Given the description of an element on the screen output the (x, y) to click on. 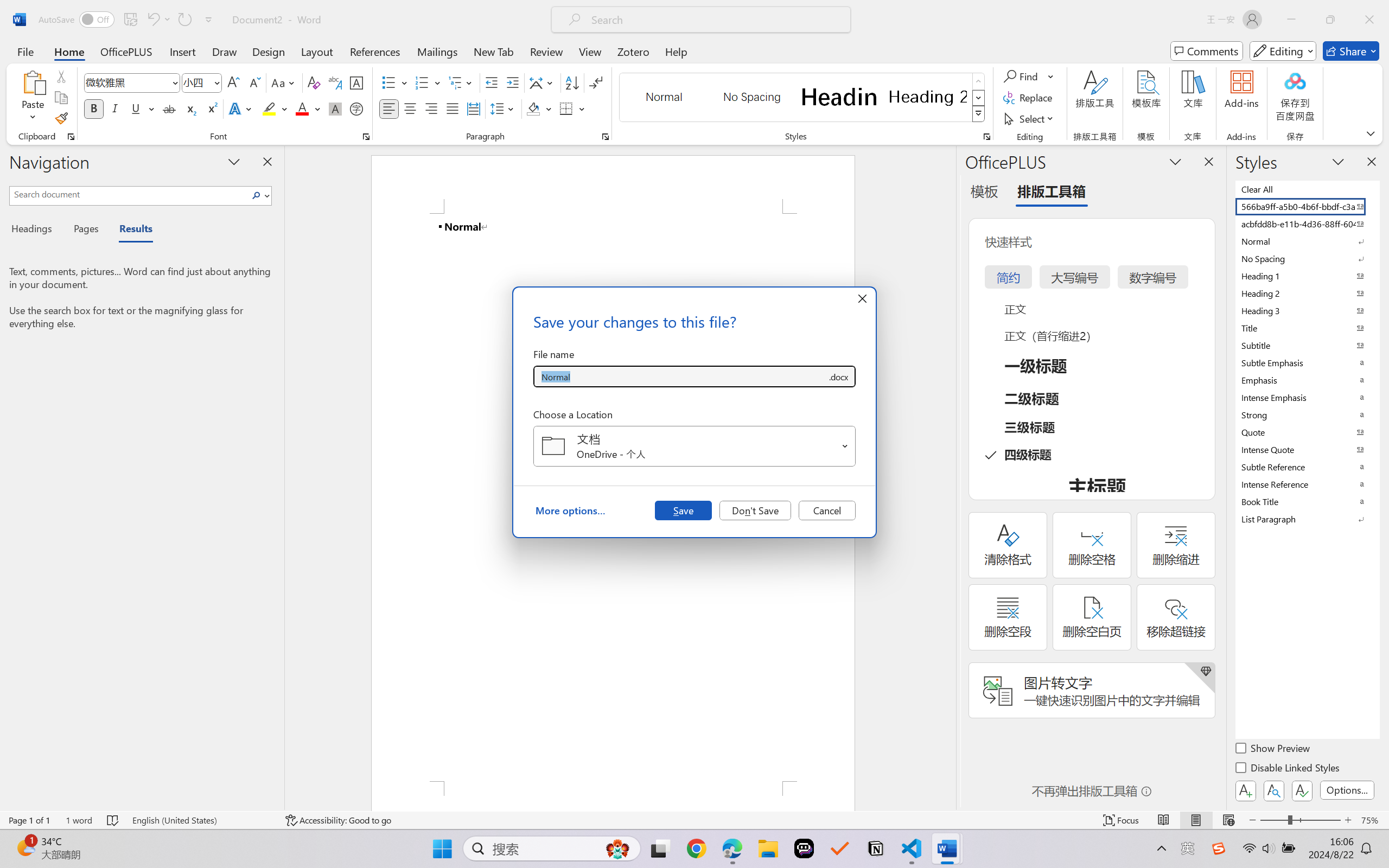
Subtle Reference (1306, 466)
Font... (365, 136)
Google Chrome (696, 848)
Shrink Font (253, 82)
Intense Reference (1306, 484)
Sort... (571, 82)
Intense Emphasis (1306, 397)
Subscript (190, 108)
Numbering (428, 82)
Office Clipboard... (70, 136)
Numbering (421, 82)
